Given the description of an element on the screen output the (x, y) to click on. 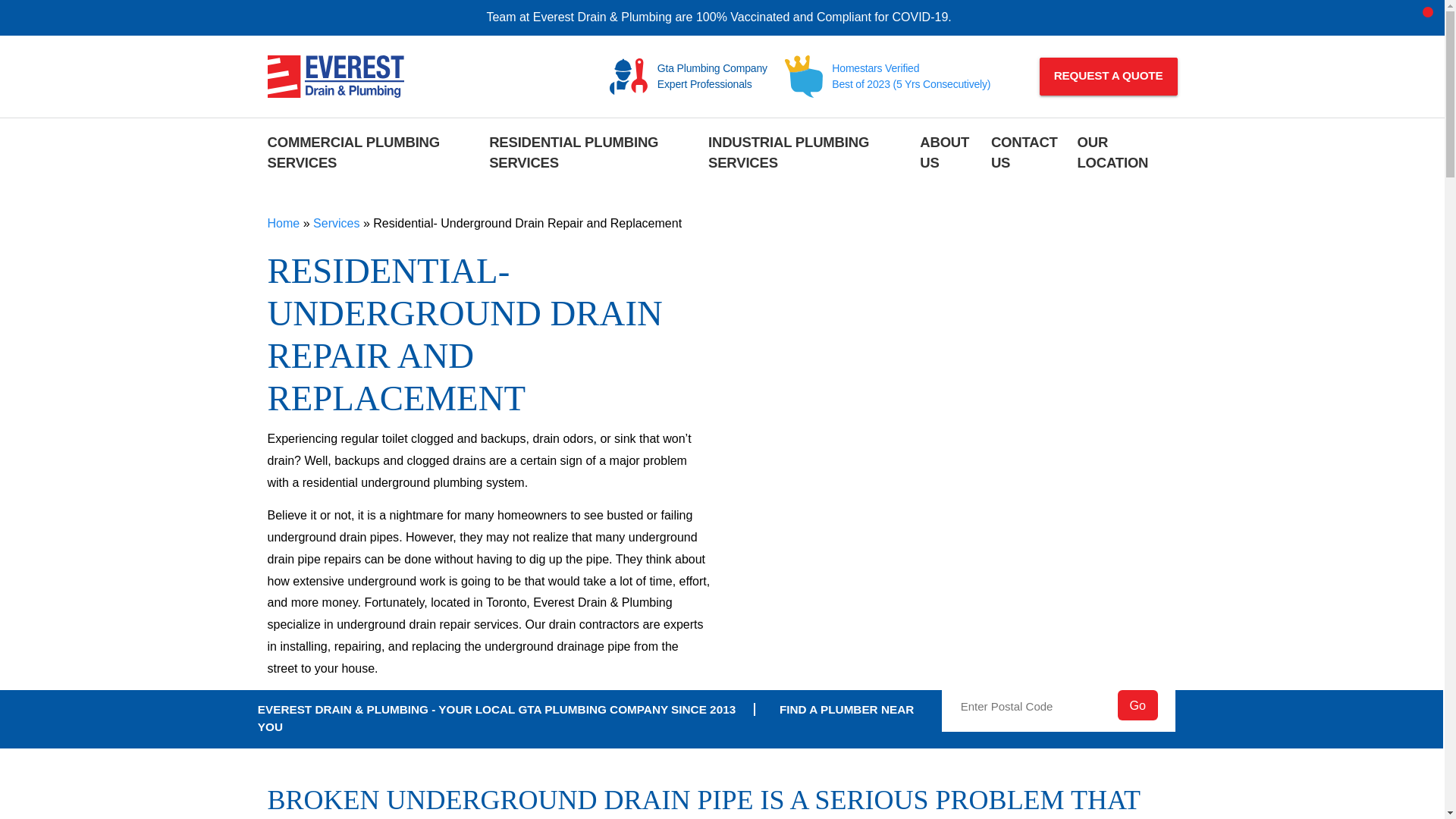
REQUEST A QUOTE (1108, 76)
RESIDENTIAL PLUMBING SERVICES (593, 155)
COMMERCIAL PLUMBING SERVICES (372, 155)
